Given the description of an element on the screen output the (x, y) to click on. 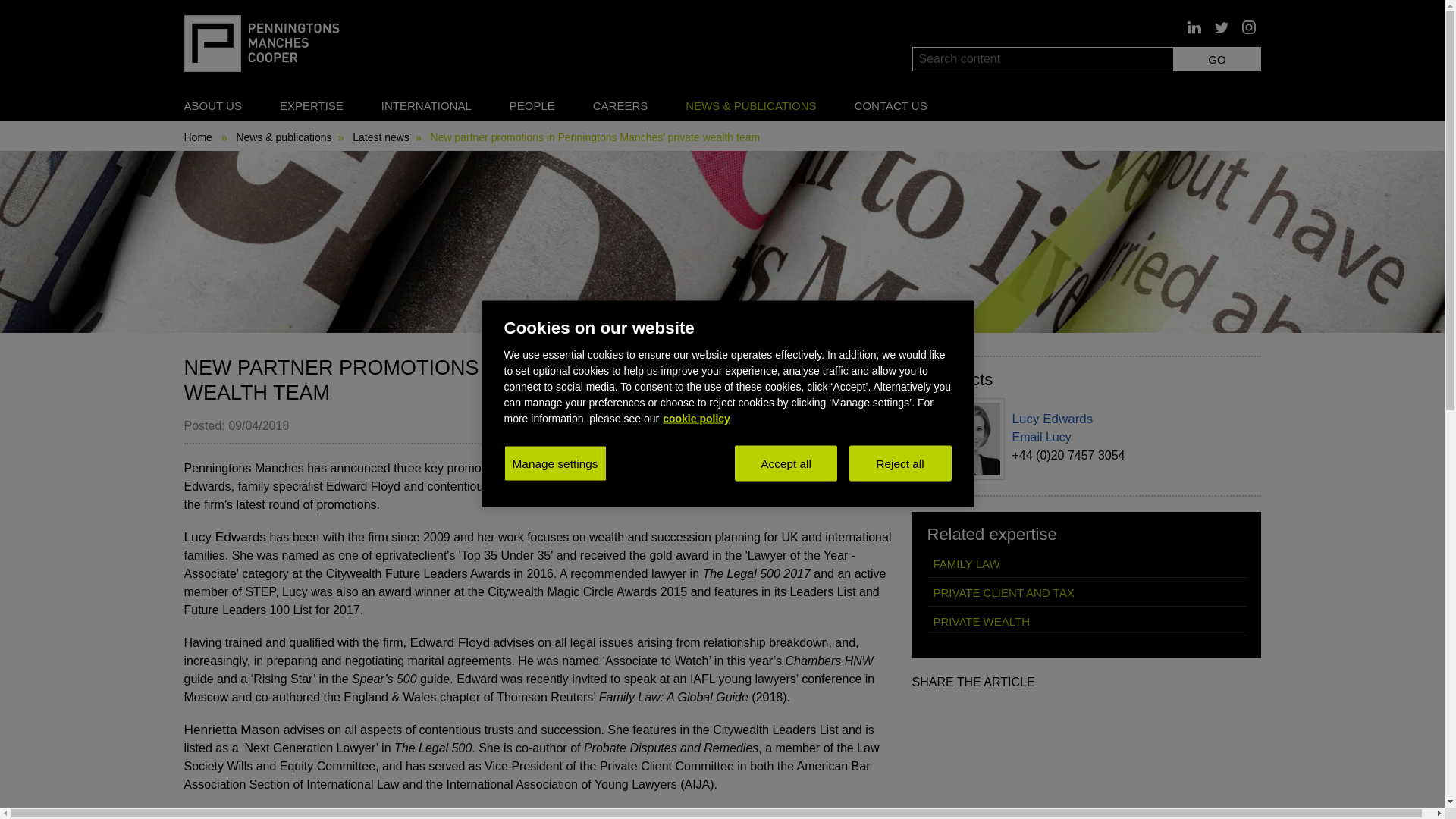
GO (1216, 58)
PRIVATE WEALTH (1085, 620)
PRIVATE CLIENT AND TAX (1085, 592)
GO (1216, 58)
ABOUT US (212, 105)
Lucy Edwards (1052, 418)
Email Lucy (1040, 436)
EXPERTISE (311, 105)
Latest news (380, 137)
FAMILY LAW (1085, 563)
Home (197, 137)
